Given the description of an element on the screen output the (x, y) to click on. 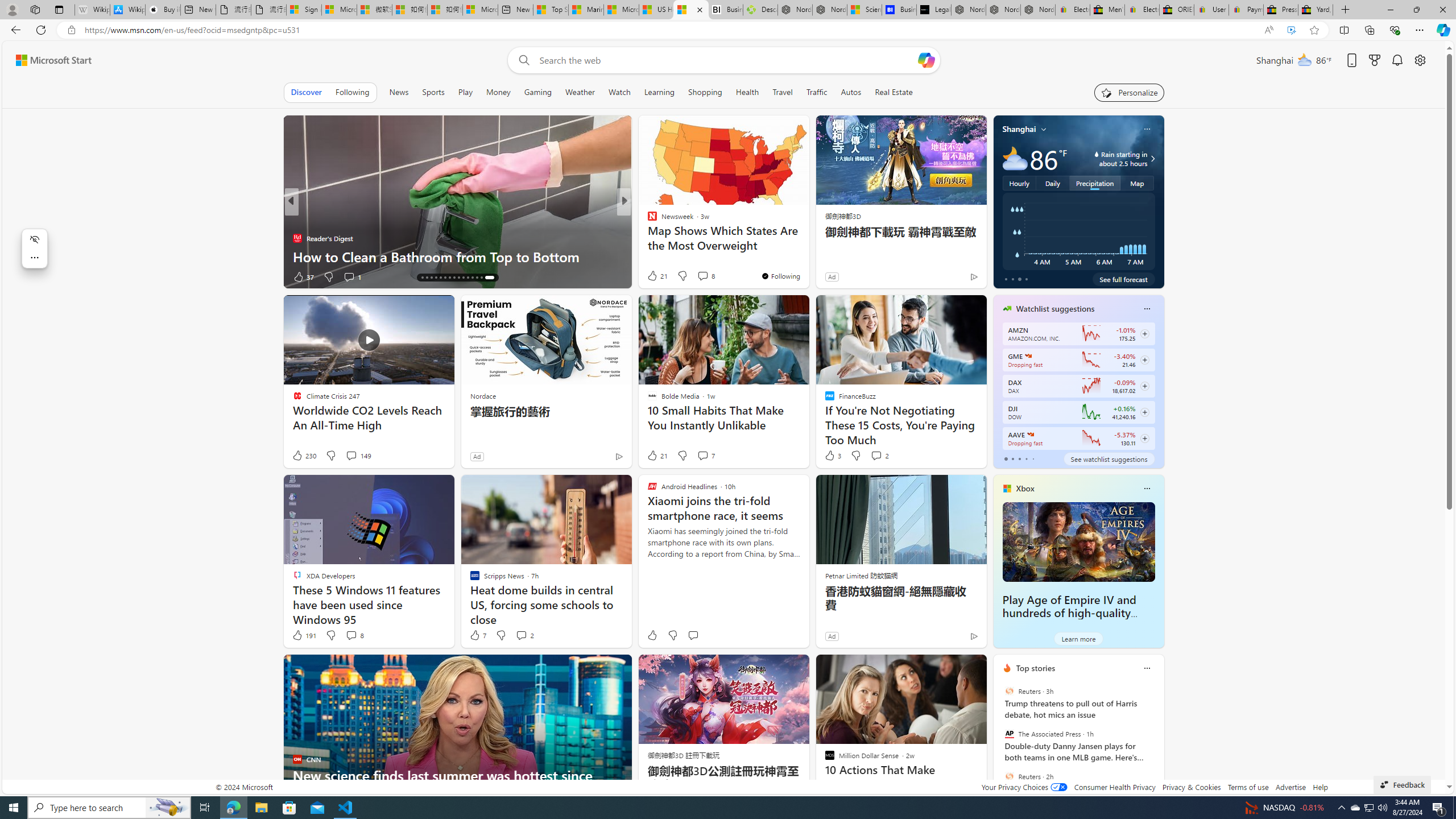
AutomationID: tab-29 (488, 277)
Sports (432, 92)
Live Science (647, 238)
View comments 265 Comment (703, 276)
611 Like (654, 276)
AutomationID: tab-20 (446, 277)
Nordace - Summer Adventures 2024 (794, 9)
Newsweek (647, 219)
Money (497, 92)
Autos (851, 92)
